Given the description of an element on the screen output the (x, y) to click on. 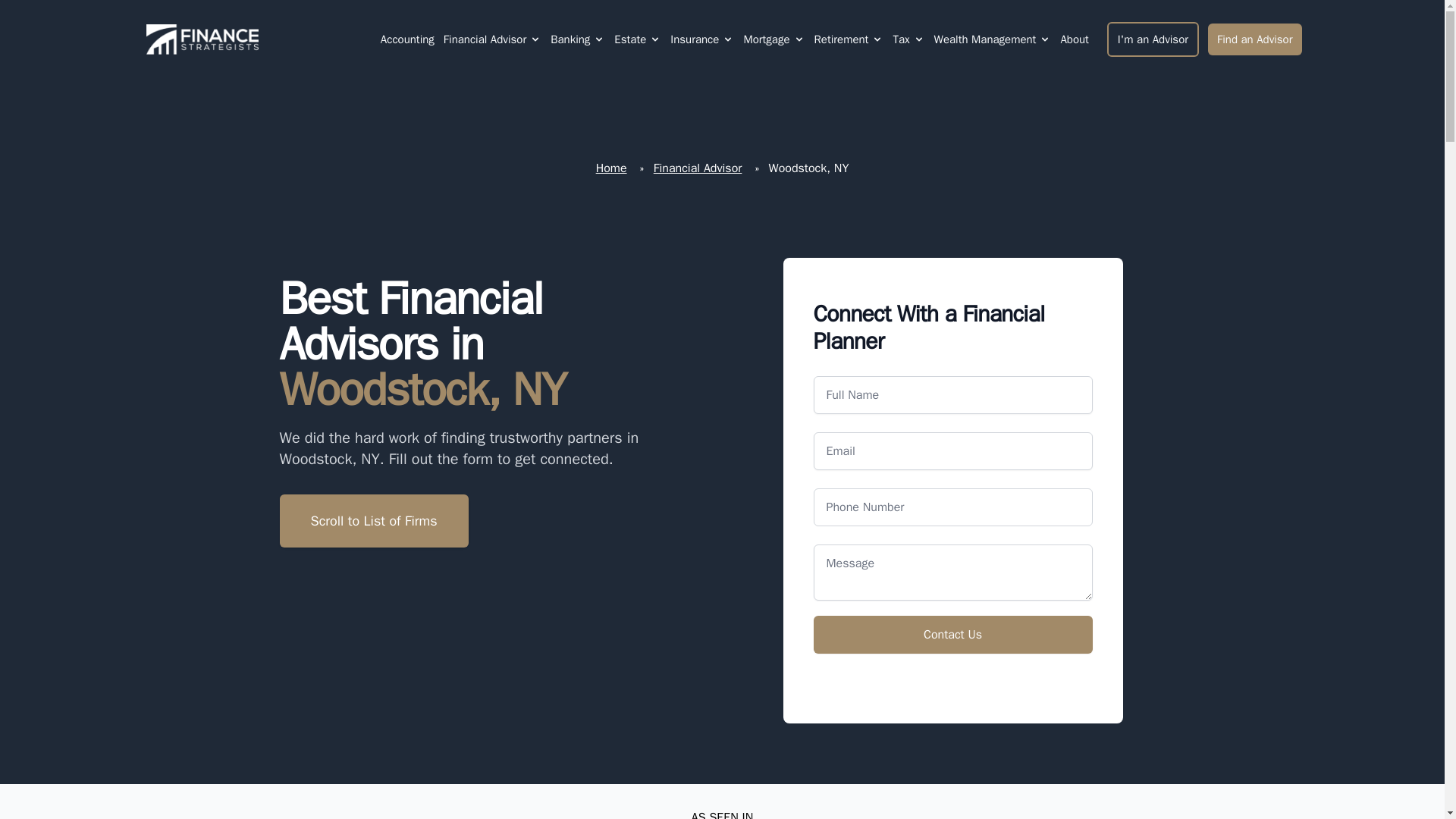
Accounting (407, 39)
Banking (569, 39)
Financial Advisor (484, 39)
Accounting (406, 39)
Banking (577, 39)
Finance Strategists (199, 39)
Financial Advisor (492, 39)
